Given the description of an element on the screen output the (x, y) to click on. 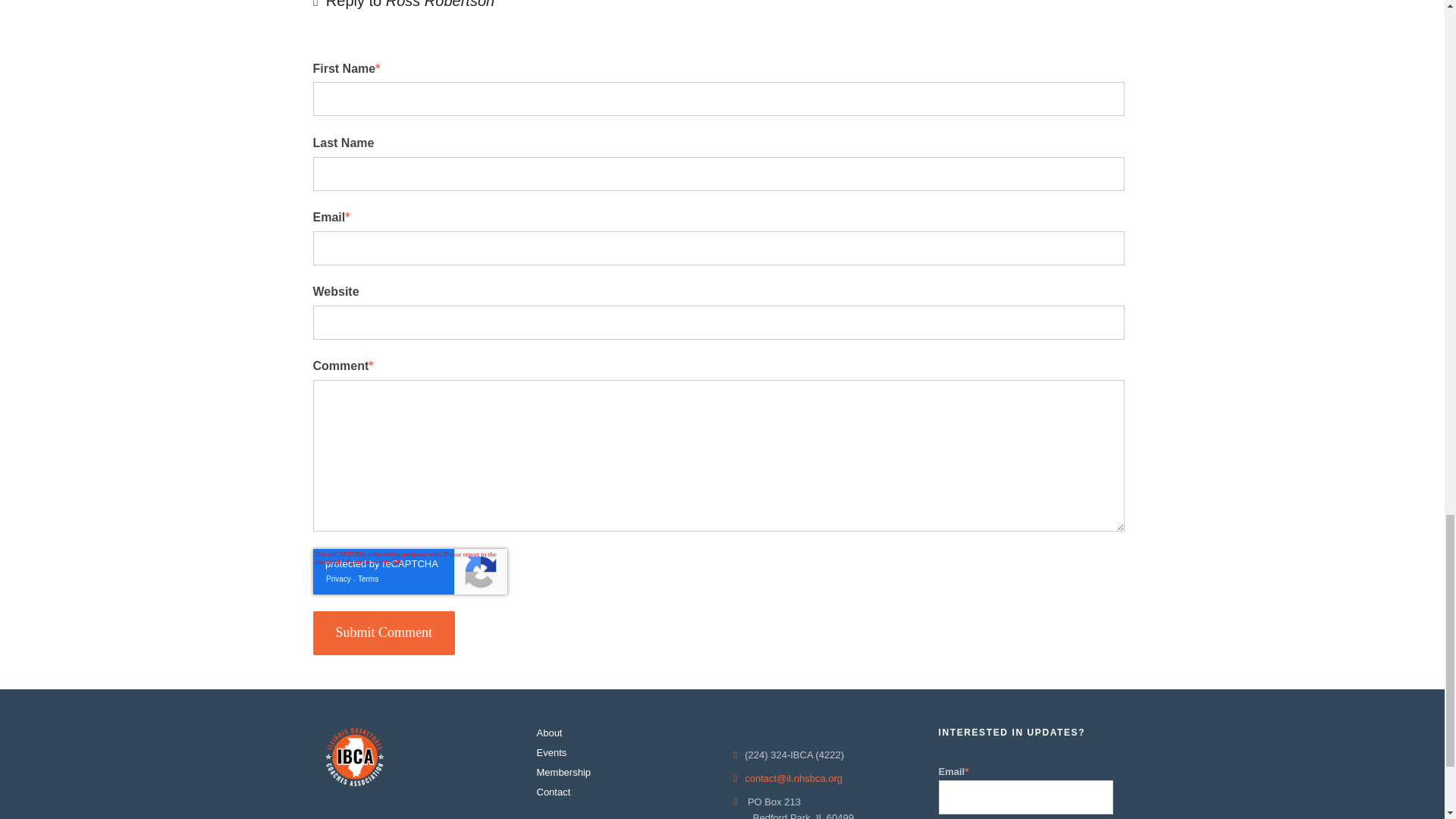
reCAPTCHA (409, 571)
Submit Comment (383, 632)
IBCA Secondary Logo 2.3 (354, 757)
